Given the description of an element on the screen output the (x, y) to click on. 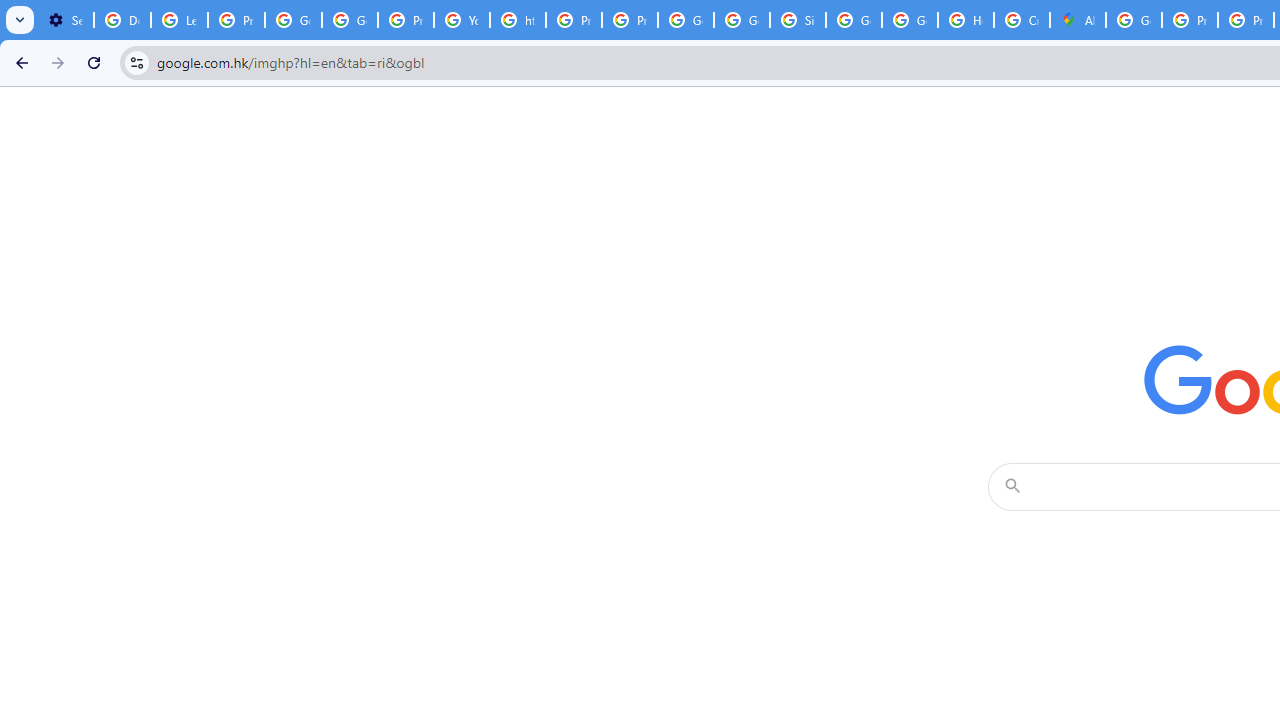
Privacy Help Center - Policies Help (573, 20)
Privacy Help Center - Policies Help (1190, 20)
Settings - On startup (65, 20)
Google Account Help (293, 20)
